Given the description of an element on the screen output the (x, y) to click on. 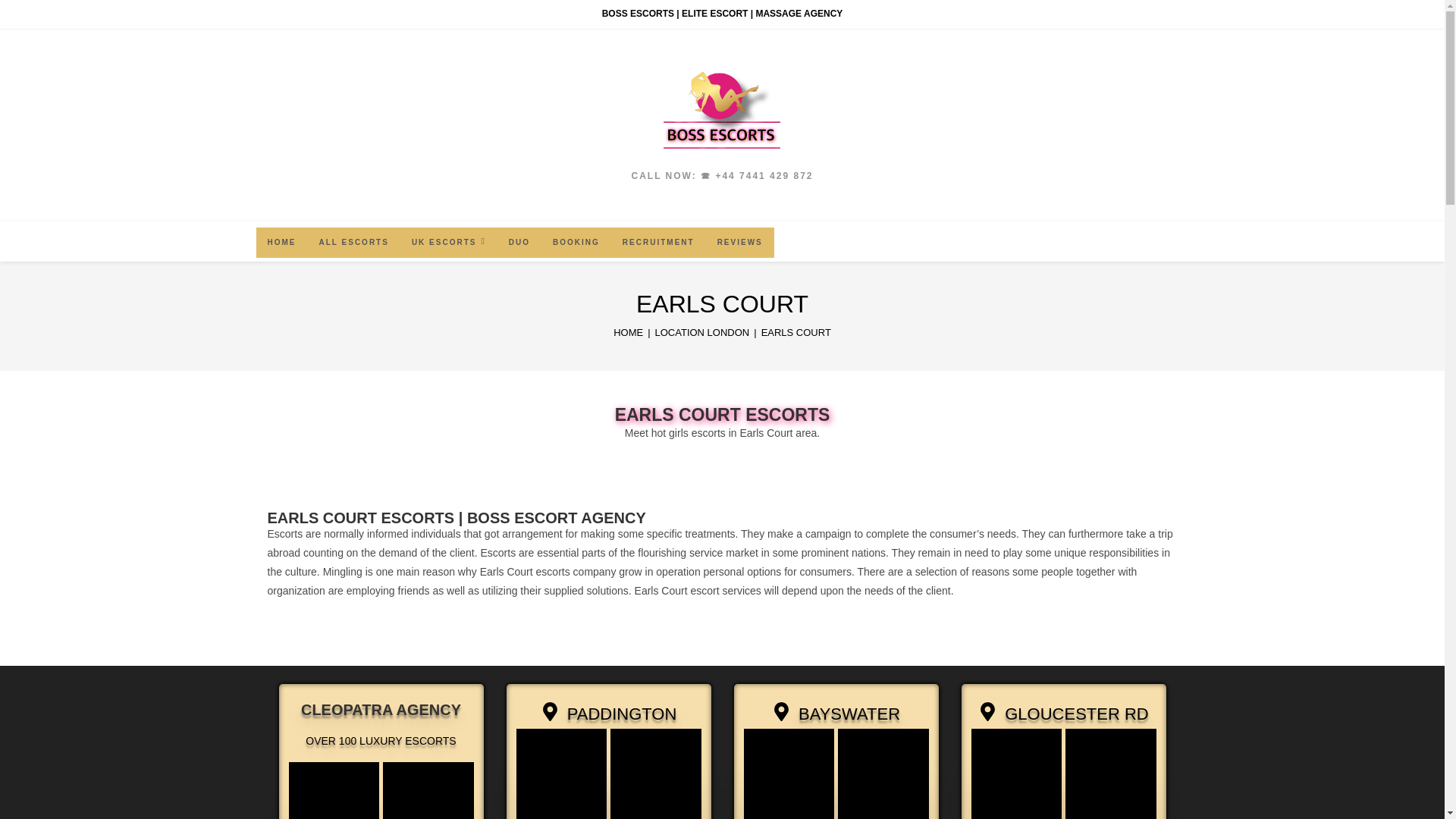
RECRUITMENT (658, 242)
BOOKING (576, 242)
HOME (281, 242)
DUO (519, 242)
UK ESCORTS (448, 242)
EARLS COURT (796, 332)
ALL ESCORTS (353, 242)
LOCATION LONDON (702, 332)
HOME (627, 332)
REVIEWS (740, 242)
